Given the description of an element on the screen output the (x, y) to click on. 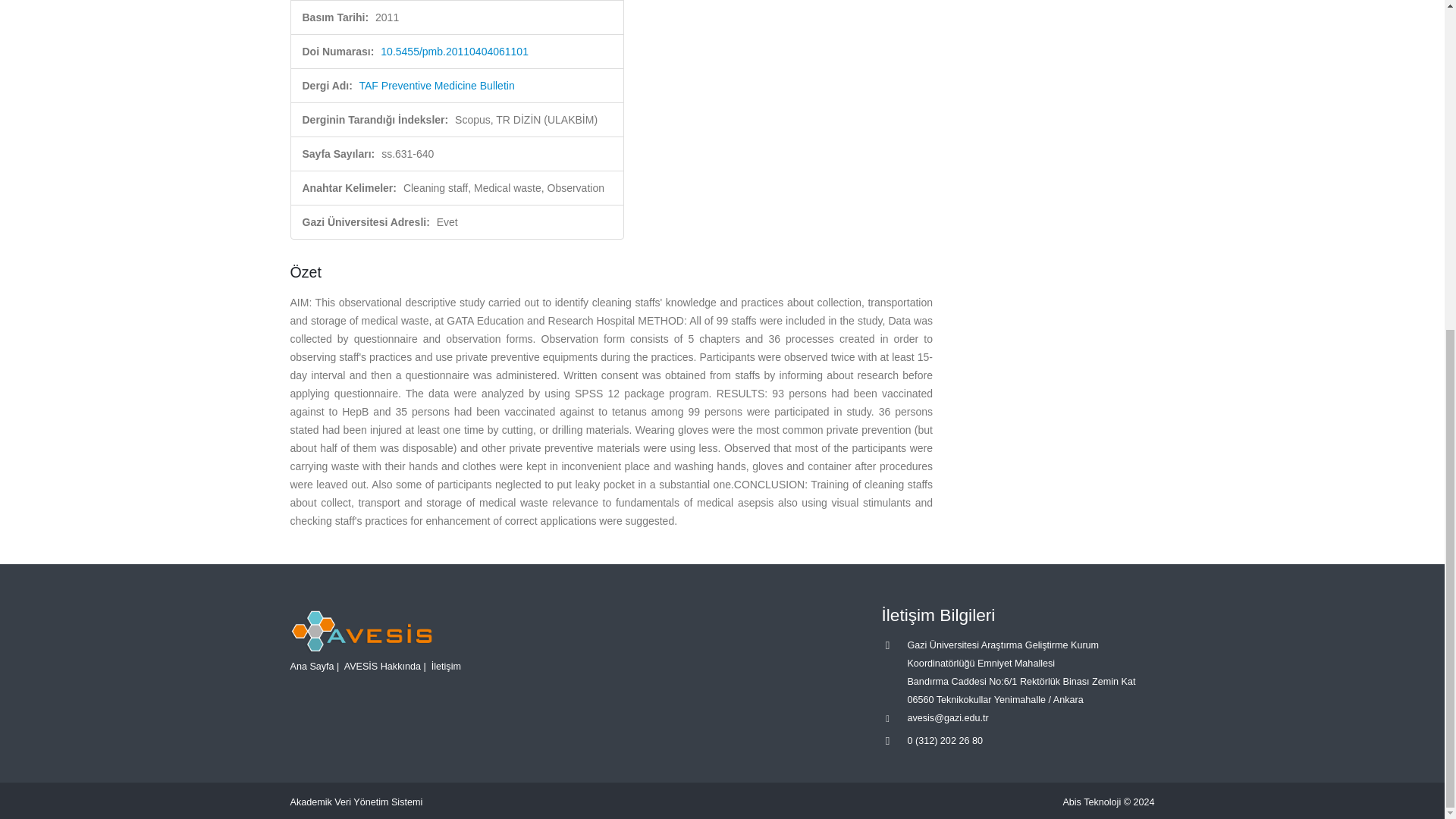
Abis Teknoloji (1091, 801)
Ana Sayfa (311, 665)
TAF Preventive Medicine Bulletin (437, 85)
